Given the description of an element on the screen output the (x, y) to click on. 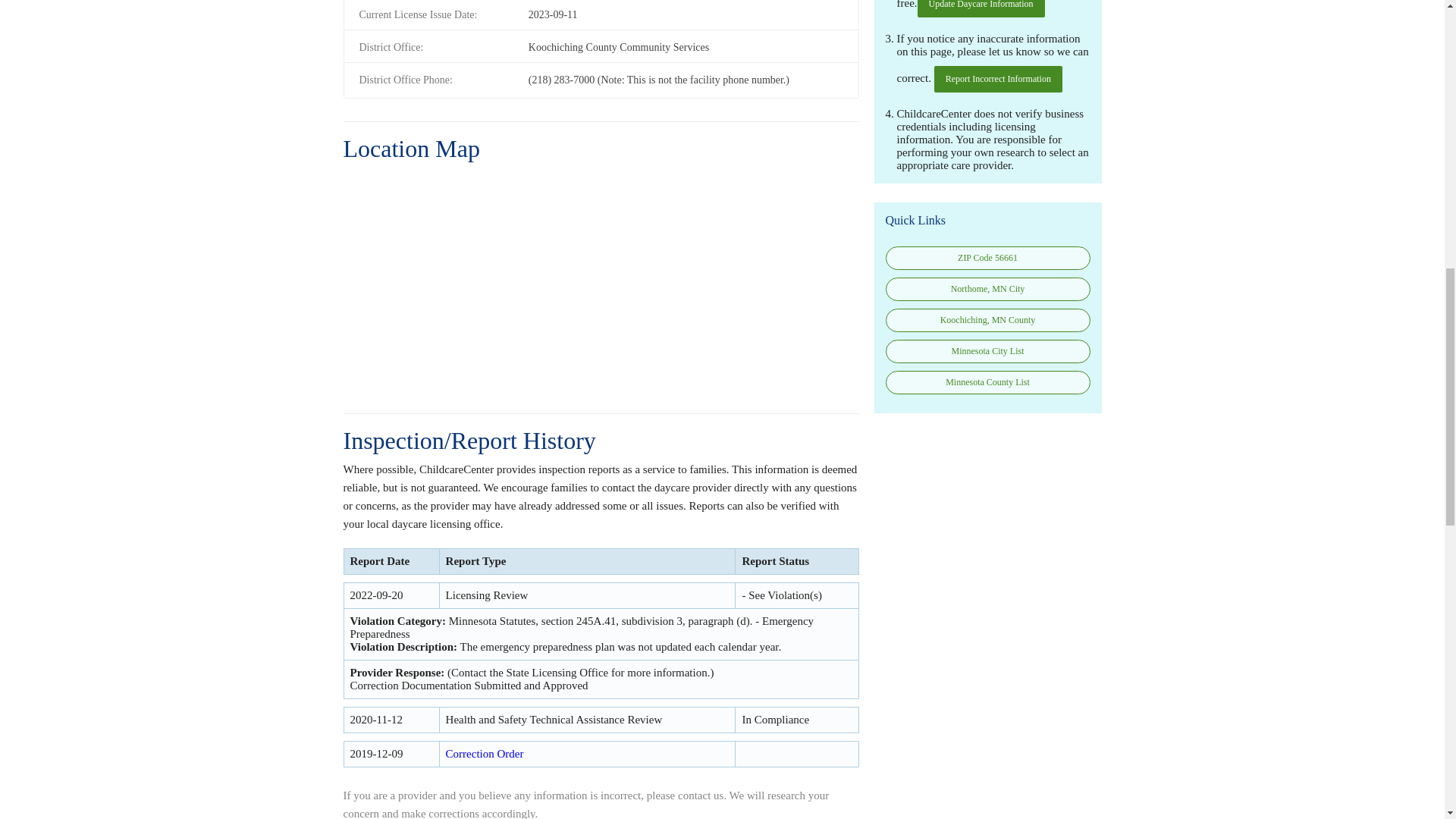
Northome, MN City (987, 289)
Minnesota County List (987, 382)
Correction Order (484, 753)
Report Incorrect Information (998, 79)
Minnesota City List (987, 351)
Koochiching, MN County (987, 320)
Update Daycare Information (981, 8)
ZIP Code 56661 (987, 258)
